Given the description of an element on the screen output the (x, y) to click on. 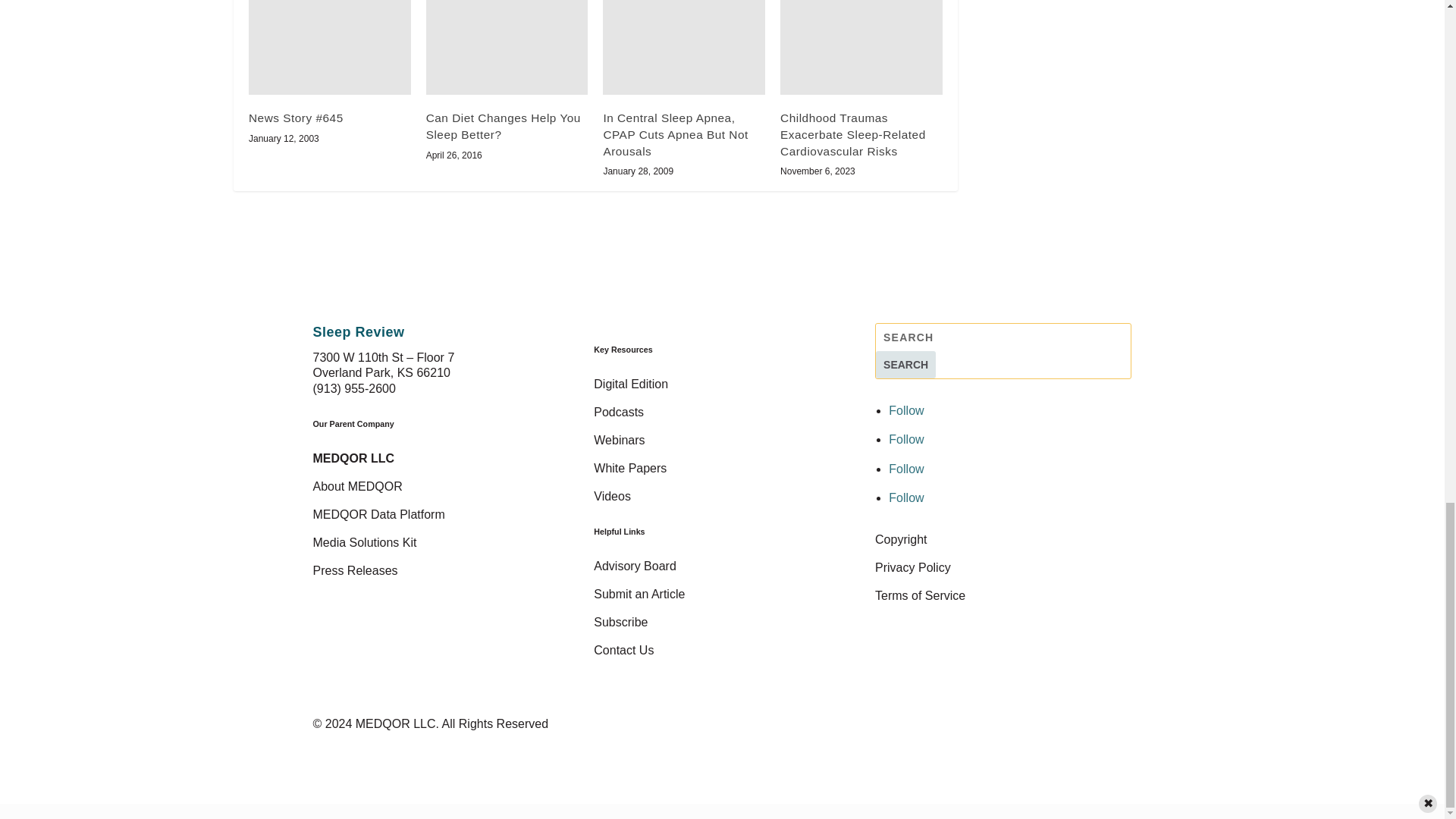
Search (906, 364)
Follow on Youtube (905, 497)
Follow on X (905, 439)
In Central Sleep Apnea, CPAP Cuts Apnea But Not Arousals (683, 47)
Search (906, 364)
Can Diet Changes Help You Sleep Better? (507, 47)
Follow on Facebook (905, 410)
Follow on LinkedIn (905, 468)
